Given the description of an element on the screen output the (x, y) to click on. 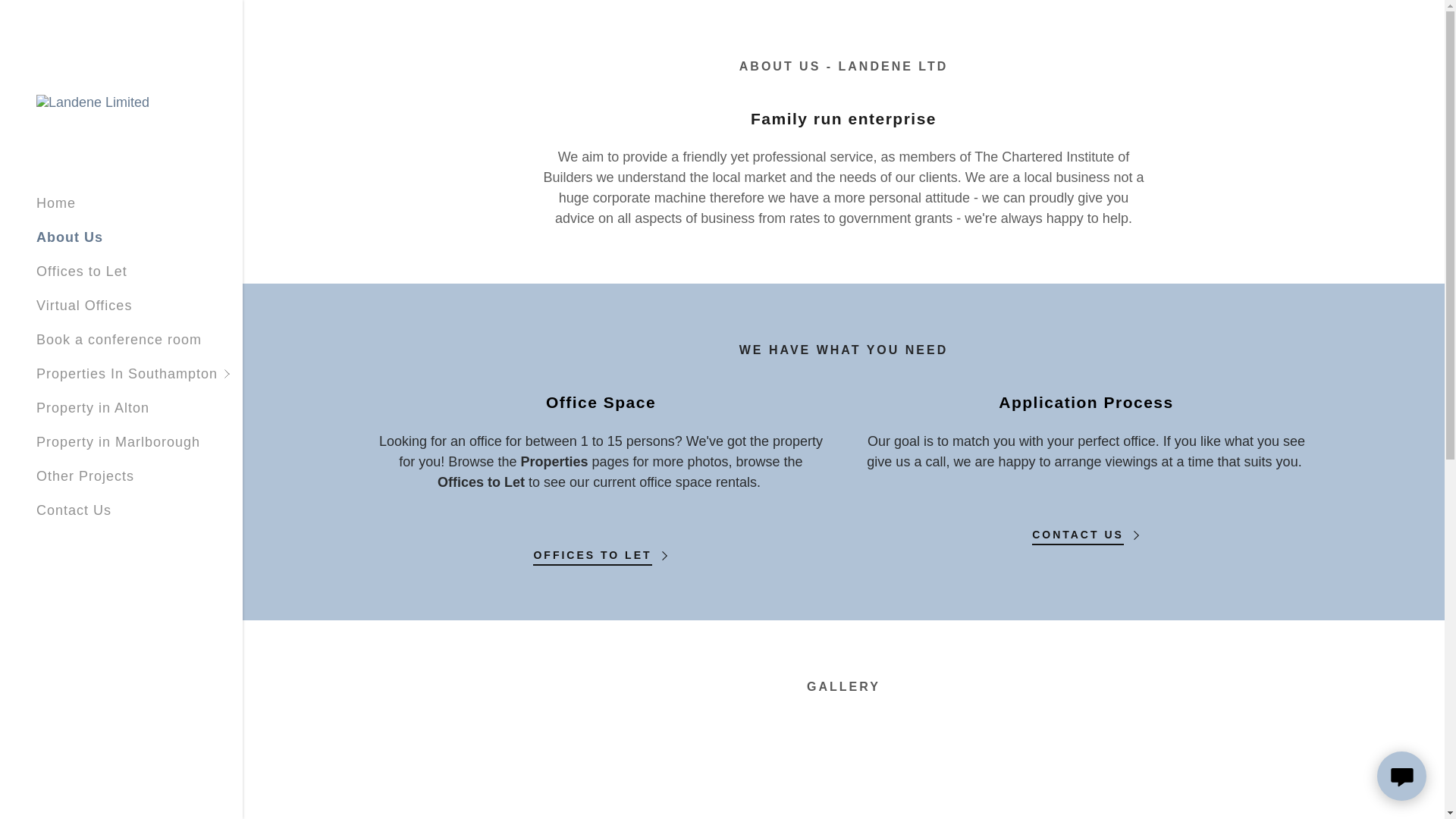
Offices to Let (82, 271)
About Us (69, 237)
CONTACT US (1086, 529)
Virtual Offices (84, 305)
Property in Alton (92, 407)
Book a conference room (119, 339)
OFFICES TO LET (600, 550)
Property in Marlborough (118, 441)
Other Projects (84, 476)
Properties In Southampton (139, 374)
